Given the description of an element on the screen output the (x, y) to click on. 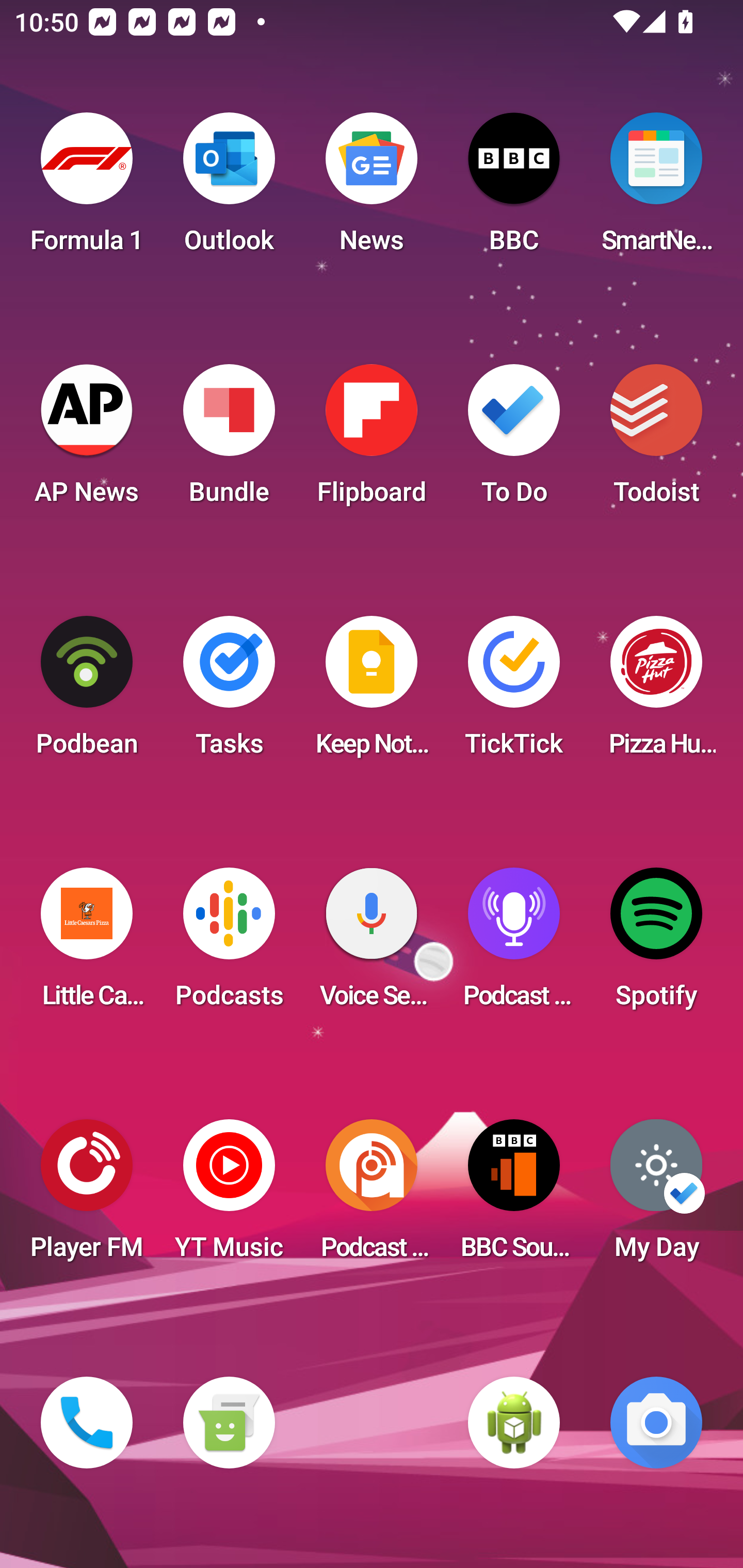
Formula 1 (86, 188)
Outlook (228, 188)
News (371, 188)
BBC (513, 188)
SmartNews (656, 188)
AP News (86, 440)
Bundle (228, 440)
Flipboard (371, 440)
To Do (513, 440)
Todoist (656, 440)
Podbean (86, 692)
Tasks (228, 692)
Keep Notes (371, 692)
TickTick (513, 692)
Pizza Hut HK & Macau (656, 692)
Little Caesars Pizza (86, 943)
Podcasts (228, 943)
Voice Search (371, 943)
Podcast Player (513, 943)
Spotify (656, 943)
Player FM (86, 1195)
YT Music (228, 1195)
Podcast Addict (371, 1195)
BBC Sounds (513, 1195)
My Day (656, 1195)
Phone (86, 1422)
Messaging (228, 1422)
WebView Browser Tester (513, 1422)
Camera (656, 1422)
